Given the description of an element on the screen output the (x, y) to click on. 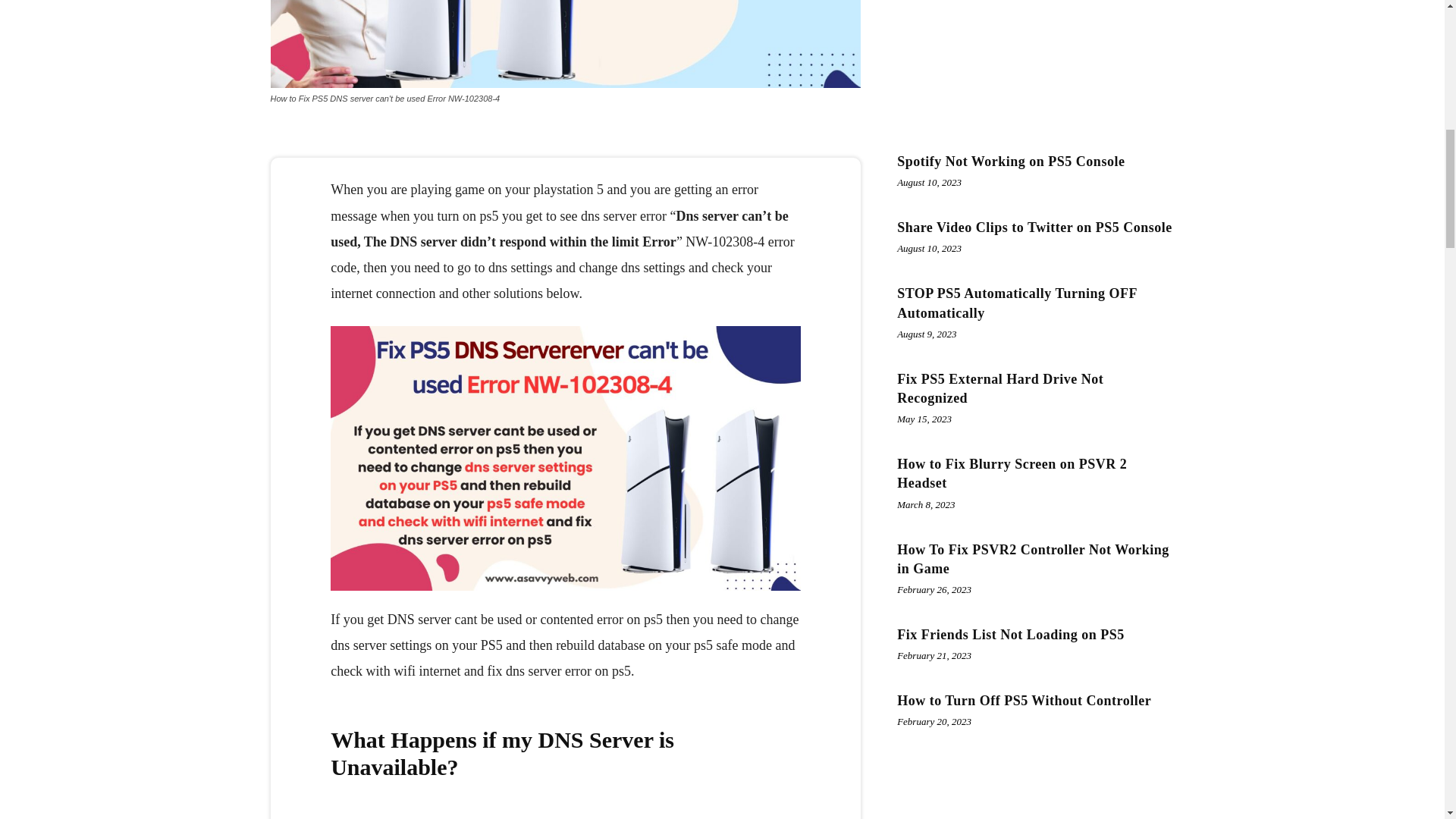
ps5-dns-server cant be used error (564, 43)
